Given the description of an element on the screen output the (x, y) to click on. 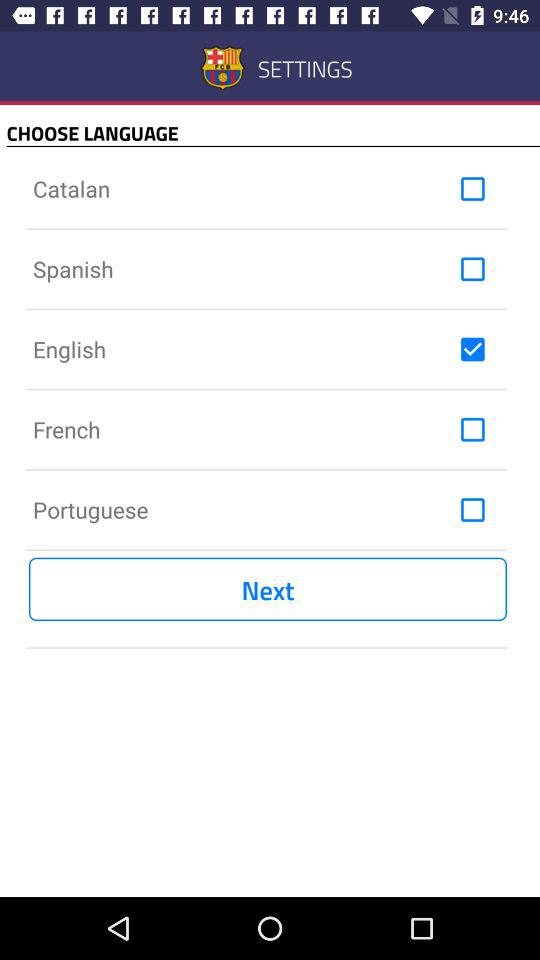
search (472, 189)
